Given the description of an element on the screen output the (x, y) to click on. 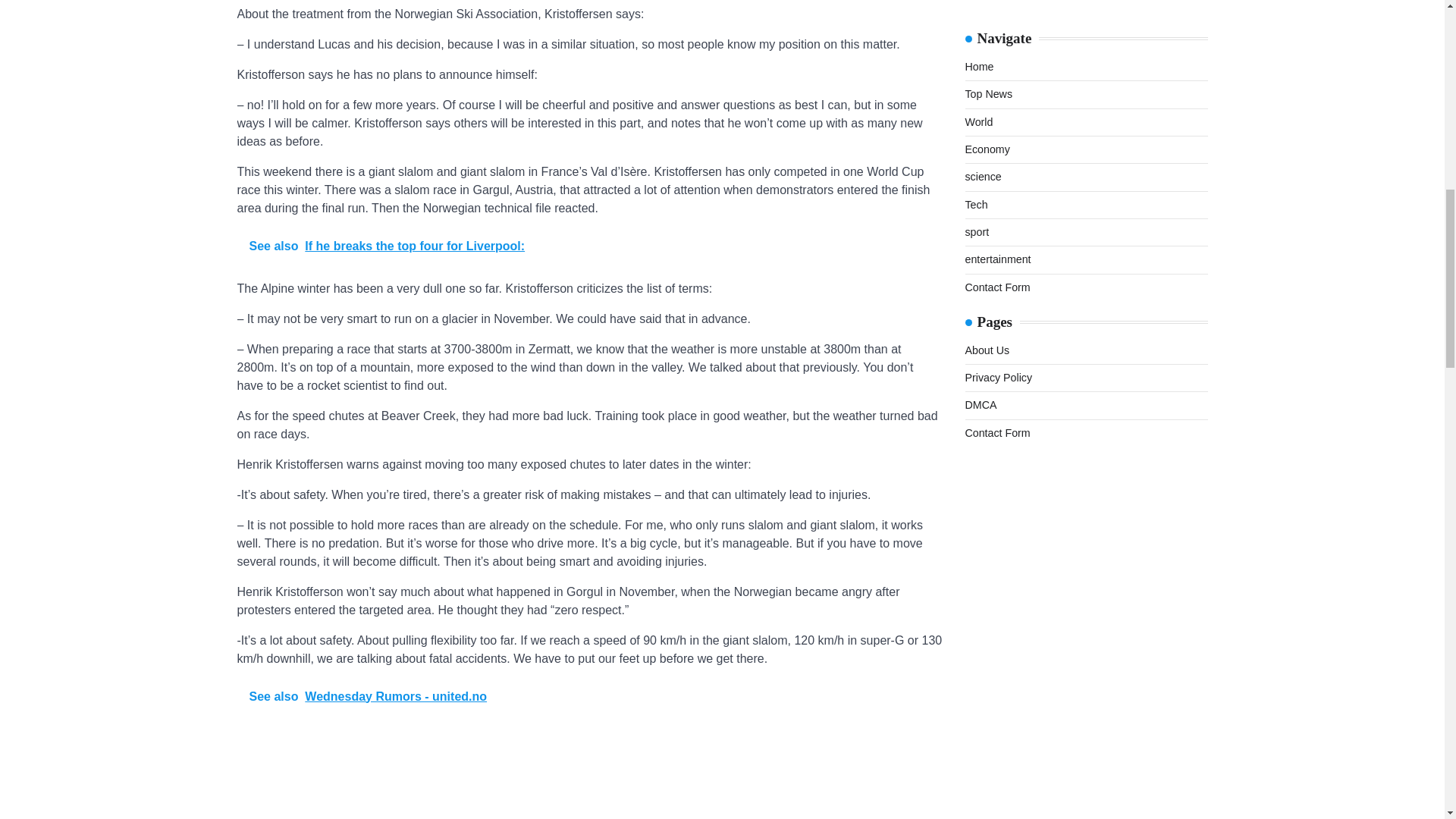
See also  Wednesday Rumors - united.no (588, 695)
See also  If he breaks the top four for Liverpool: (588, 245)
